Given the description of an element on the screen output the (x, y) to click on. 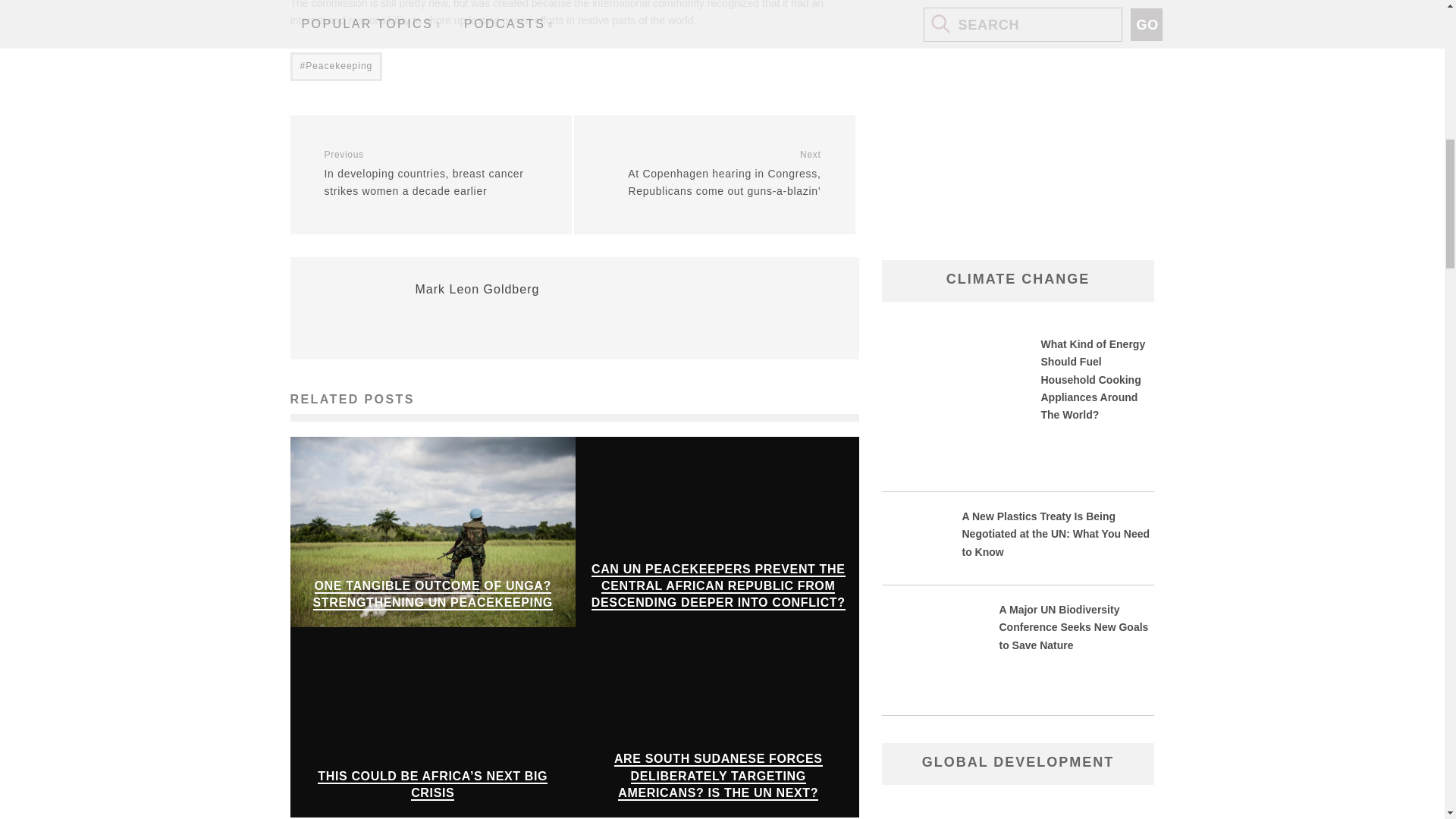
Mark Leon Goldberg (477, 288)
Peacekeeping (335, 66)
ONE TANGIBLE OUTCOME OF UNGA? STRENGTHENING UN PEACEKEEPING (433, 594)
